Given the description of an element on the screen output the (x, y) to click on. 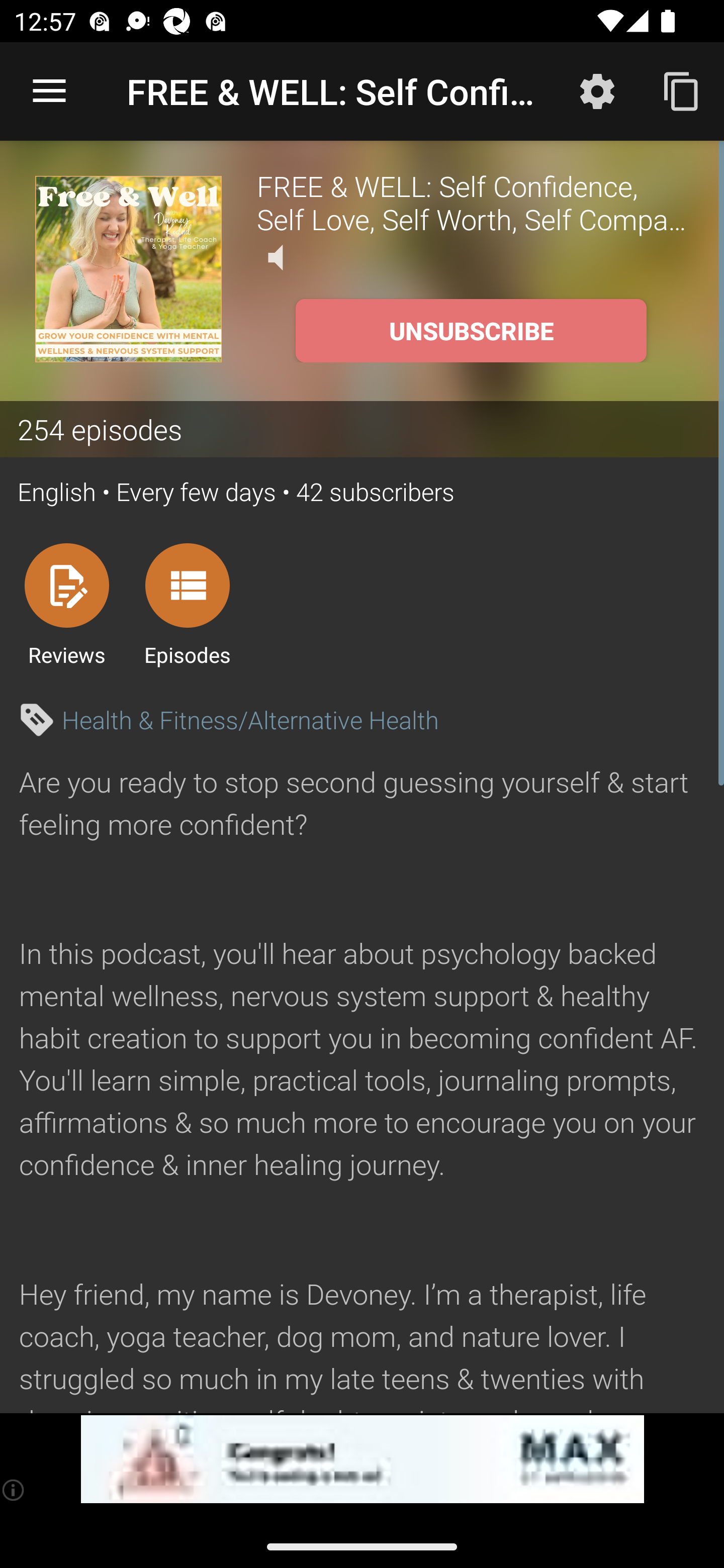
Open navigation sidebar (49, 91)
Settings (597, 90)
Copy feed url to clipboard (681, 90)
UNSUBSCRIBE (470, 330)
Reviews (66, 604)
Episodes (187, 604)
app-monetization (362, 1459)
(i) (14, 1489)
